Given the description of an element on the screen output the (x, y) to click on. 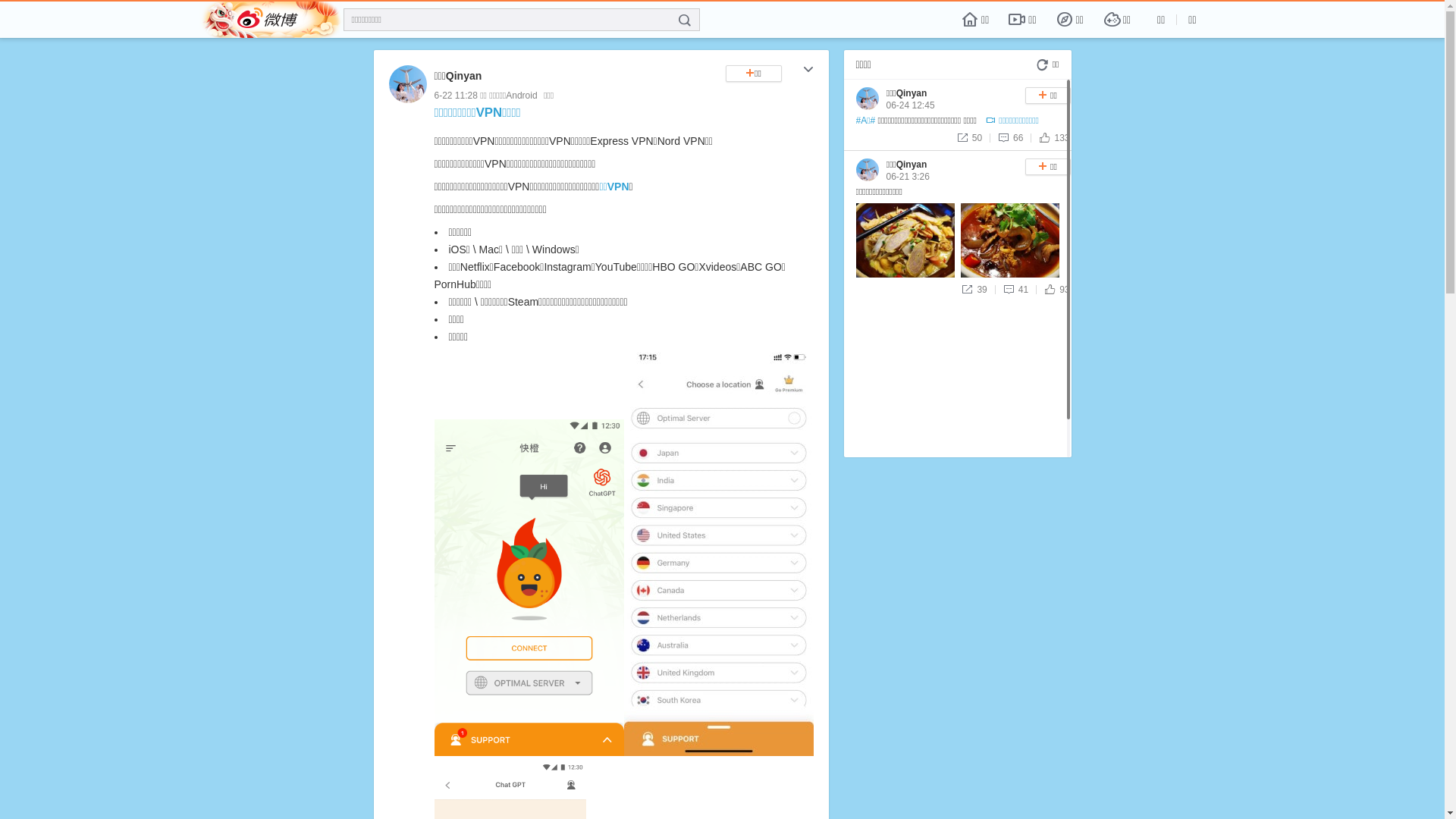
f Element type: text (684, 20)
06-24 12:45 Element type: text (909, 105)
6-22 11:28 Element type: text (454, 95)
c Element type: text (808, 70)
06-21 3:26 Element type: text (906, 176)
